Given the description of an element on the screen output the (x, y) to click on. 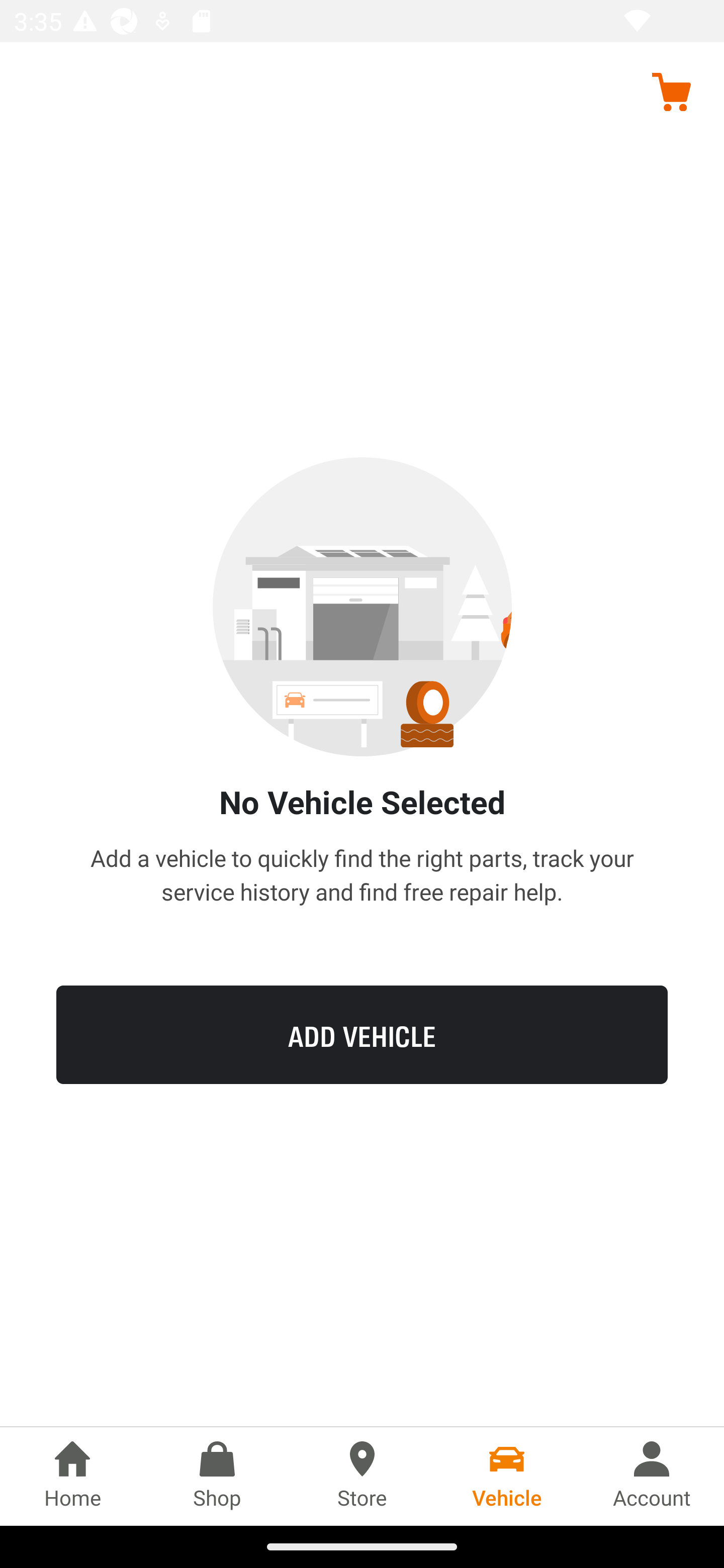
Cart, no items  (670, 91)
ADD VEHICLE (361, 1034)
Home (72, 1475)
Shop (216, 1475)
Store (361, 1475)
Vehicle (506, 1475)
Account (651, 1475)
